Given the description of an element on the screen output the (x, y) to click on. 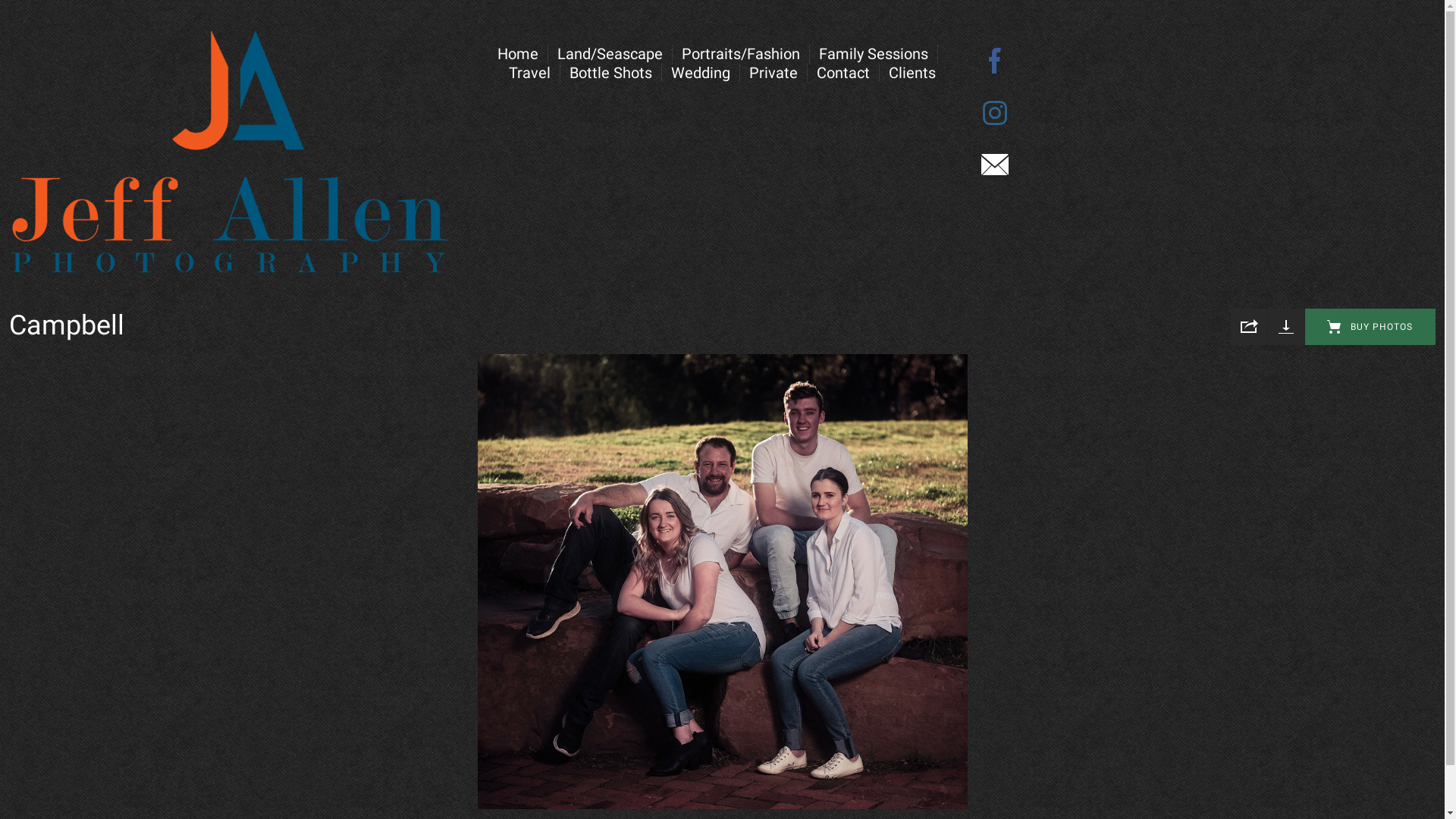
Land/Seascape Element type: text (609, 53)
Travel Element type: text (529, 72)
Bottle Shots Element type: text (610, 72)
BUY PHOTOS Element type: text (1370, 326)
Home Element type: text (517, 53)
Family Sessions Element type: text (873, 53)
Contact Element type: text (842, 72)
Portraits/Fashion Element type: text (740, 53)
Private Element type: text (773, 72)
Clients Element type: text (911, 72)
Download All Element type: hover (1285, 326)
Share Gallery Element type: hover (1248, 326)
Wedding Element type: text (700, 72)
